Given the description of an element on the screen output the (x, y) to click on. 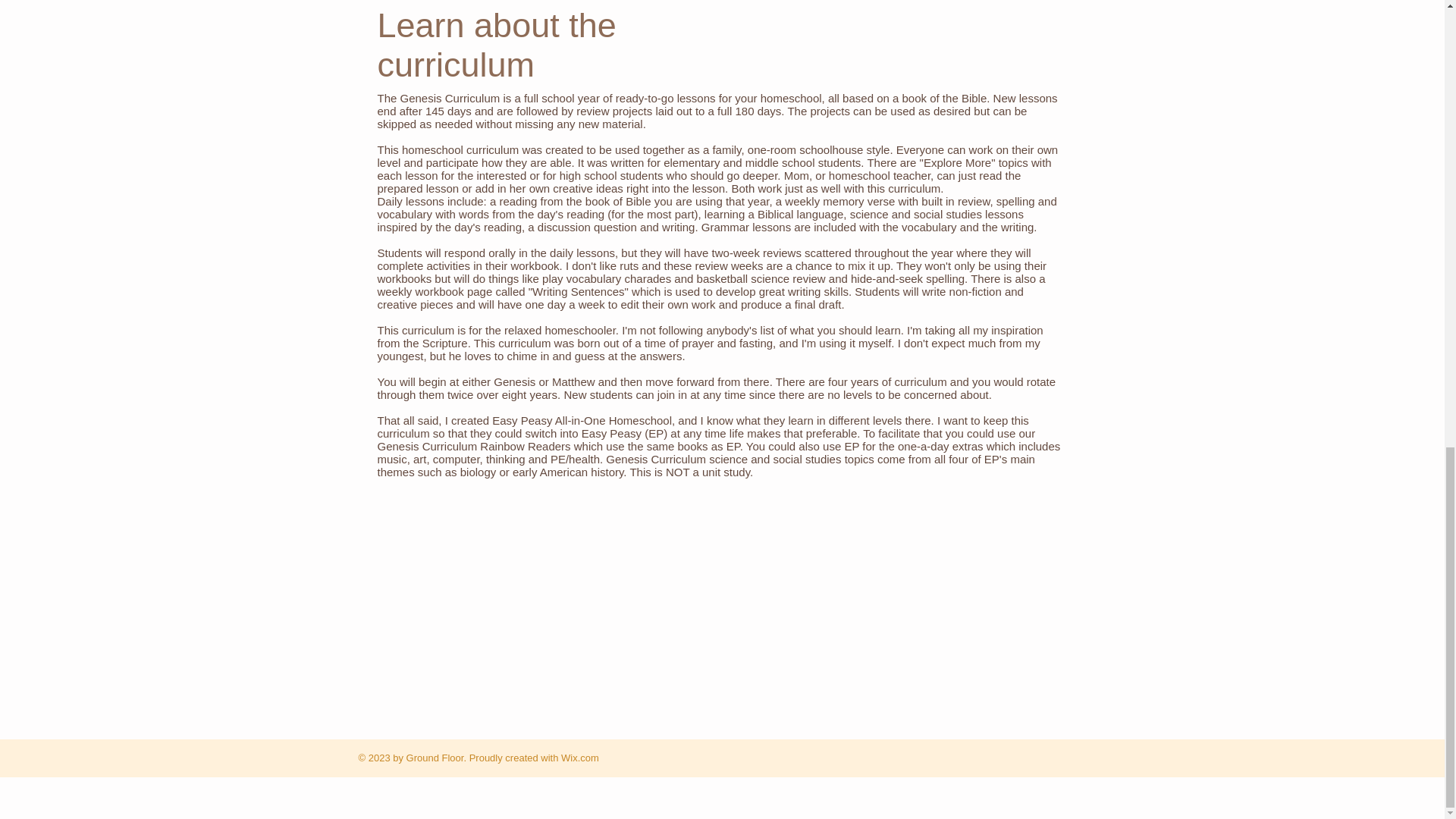
Wix.com (579, 757)
